Given the description of an element on the screen output the (x, y) to click on. 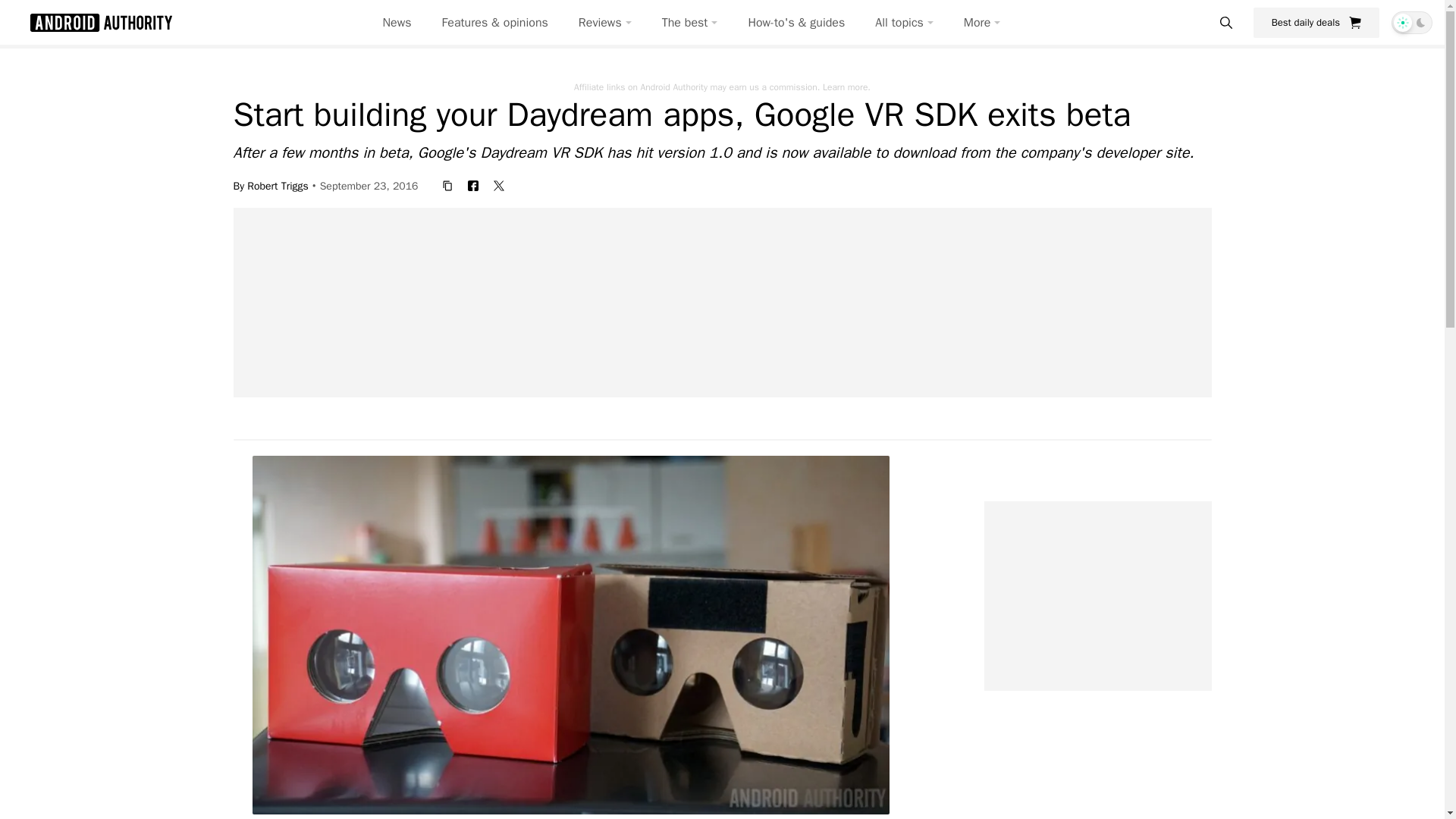
Reviews (604, 22)
facebook (473, 185)
The best (689, 22)
Best daily deals (1315, 22)
twitter (499, 185)
Learn more. (846, 86)
All topics (904, 22)
Robert Triggs (277, 185)
